Given the description of an element on the screen output the (x, y) to click on. 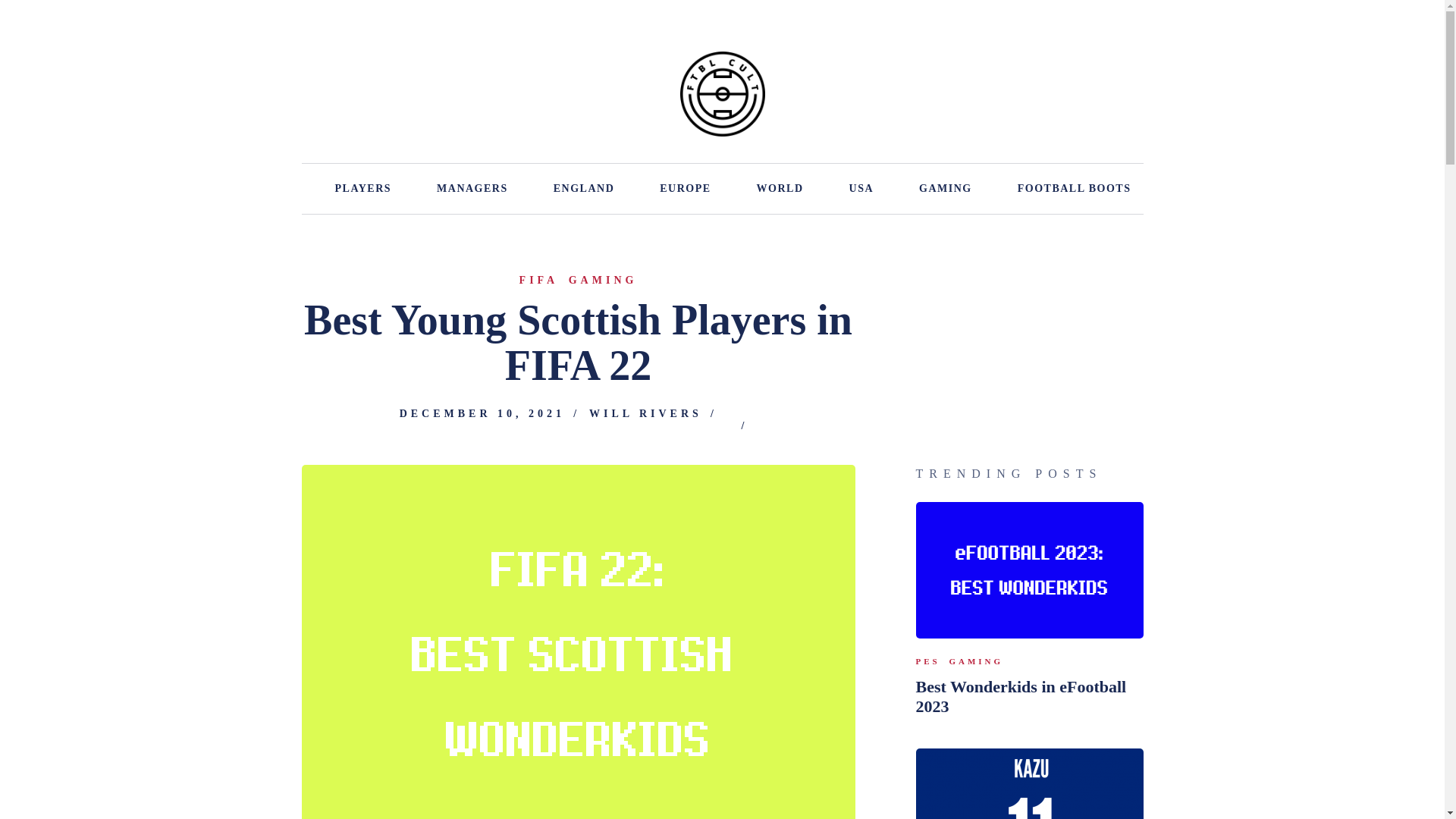
Best Wonderkids in eFootball 2023 (1028, 570)
View all posts in Gaming (603, 280)
Best Wonderkids in eFootball 2023 (1028, 696)
ENGLAND (583, 188)
View all posts in FIFA (539, 280)
FIFA (539, 280)
WORLD (780, 188)
MANAGERS (472, 188)
View all posts in PES (927, 661)
